Given the description of an element on the screen output the (x, y) to click on. 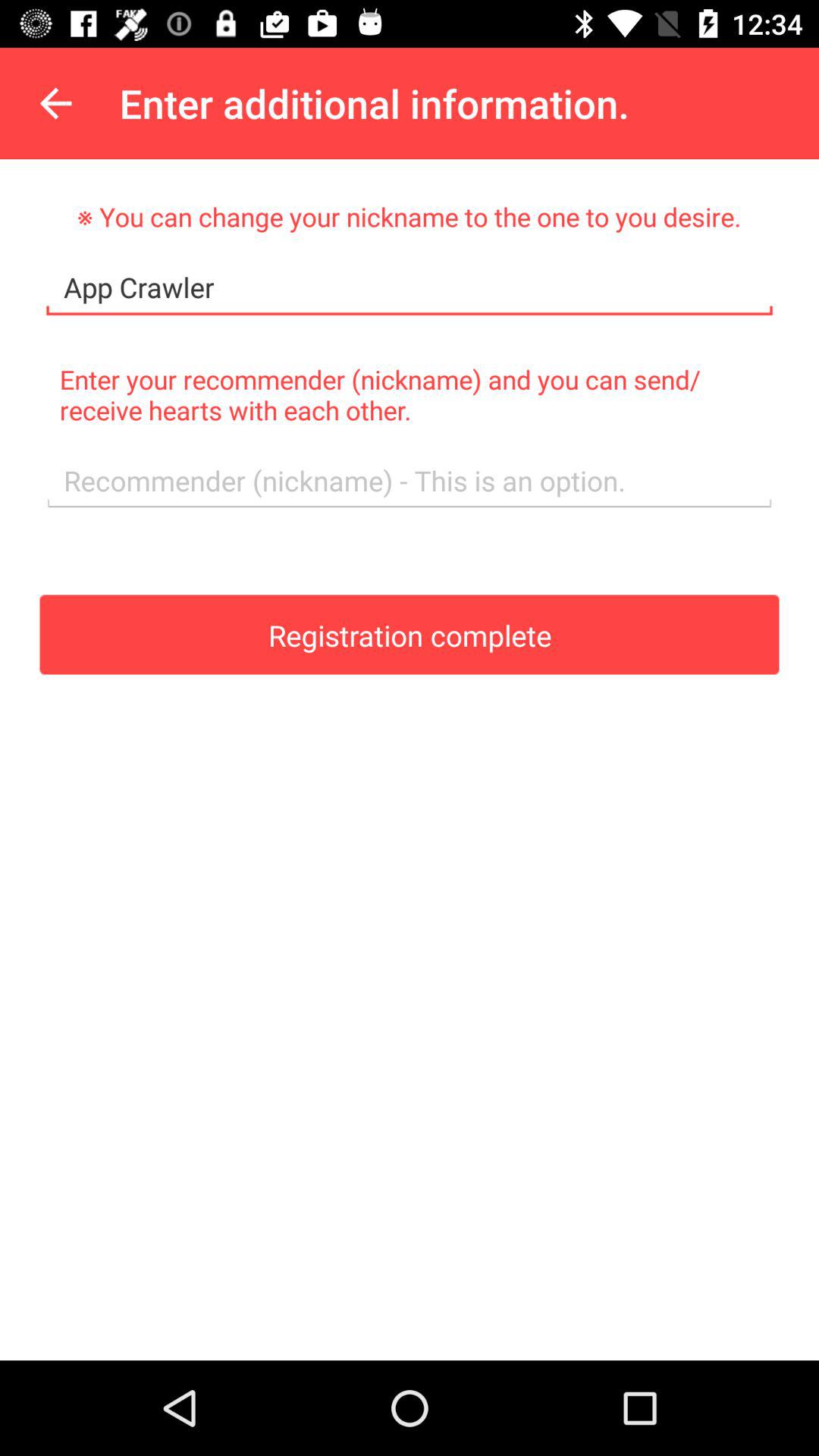
jump until the registration complete icon (409, 634)
